Given the description of an element on the screen output the (x, y) to click on. 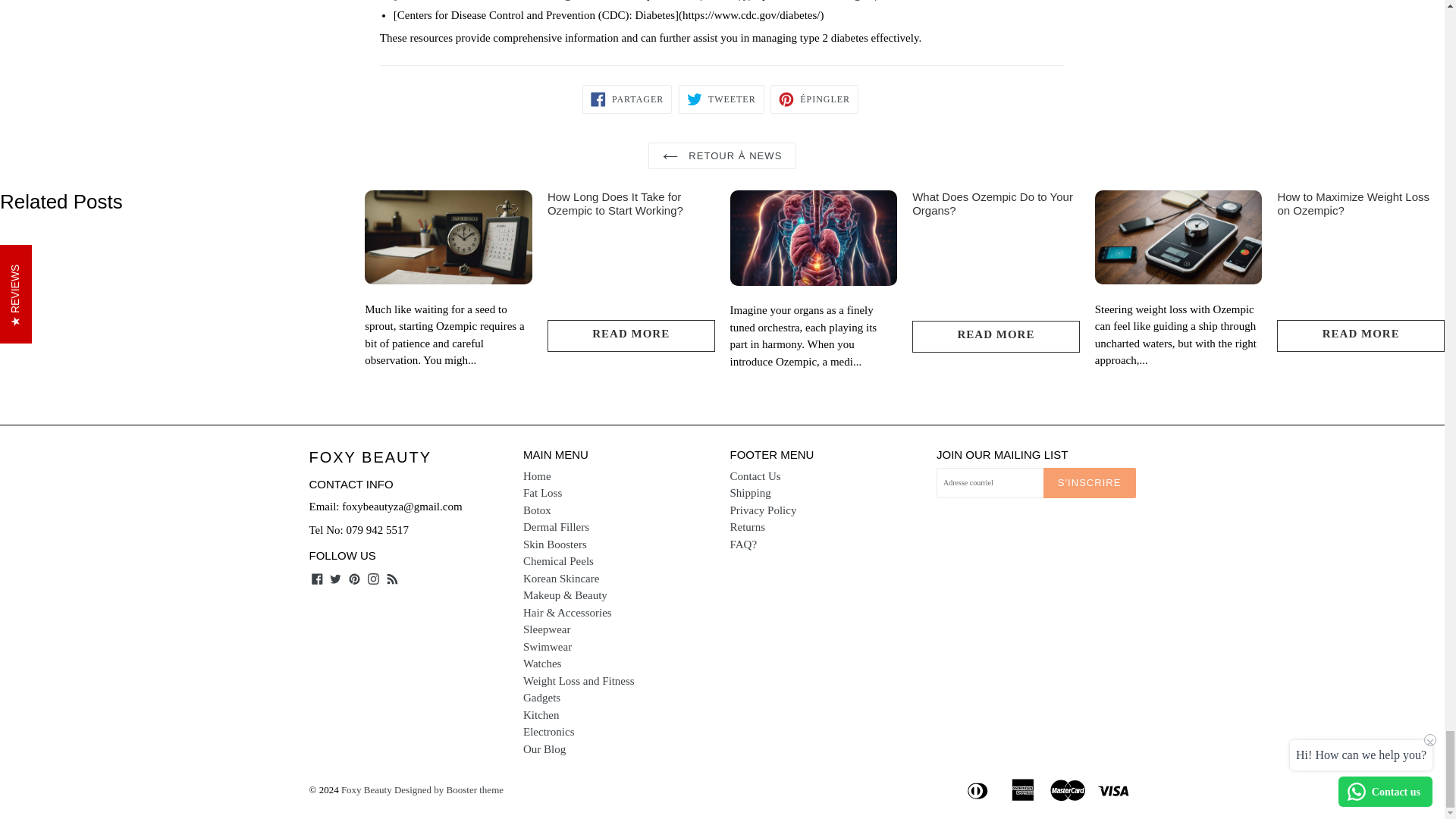
Foxy Beauty sur Twitter (335, 578)
diners club (979, 788)
Foxy Beauty sur Instagram (373, 578)
Foxy Beauty sur Pinterest (354, 578)
Partager sur Facebook (626, 99)
Foxy Beauty sur Facebook (316, 578)
american express (1024, 788)
Tweeter sur Twitter (721, 99)
